Given the description of an element on the screen output the (x, y) to click on. 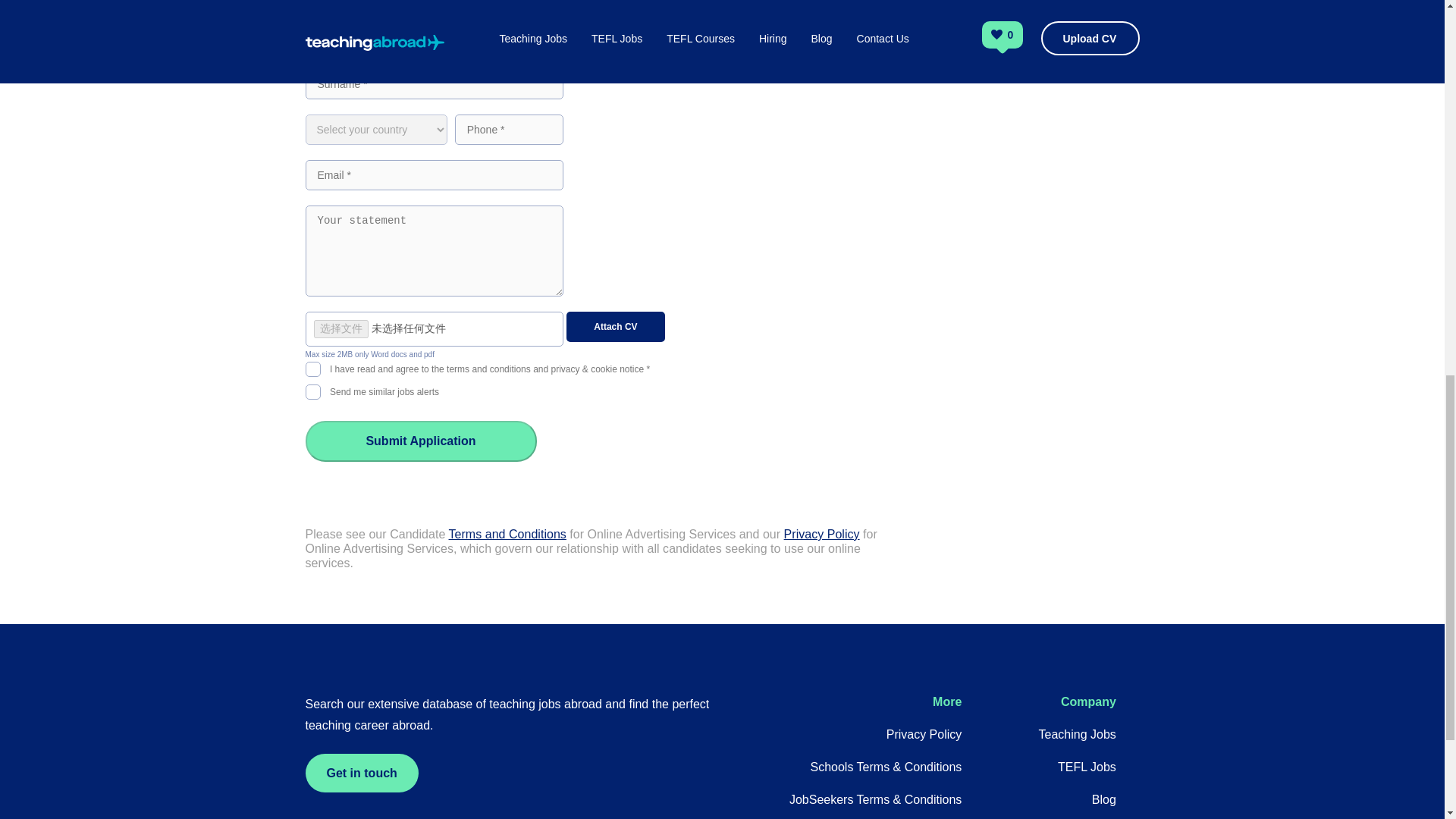
on (312, 389)
Blog (1104, 799)
Privacy Policy (924, 734)
TEFL Jobs (1087, 766)
Teaching Jobs (1077, 734)
Terms and Conditions (507, 533)
Get in touch (360, 772)
Submit Application (419, 440)
Please see our Candidate (376, 533)
Privacy Policy (822, 533)
on (312, 367)
